Given the description of an element on the screen output the (x, y) to click on. 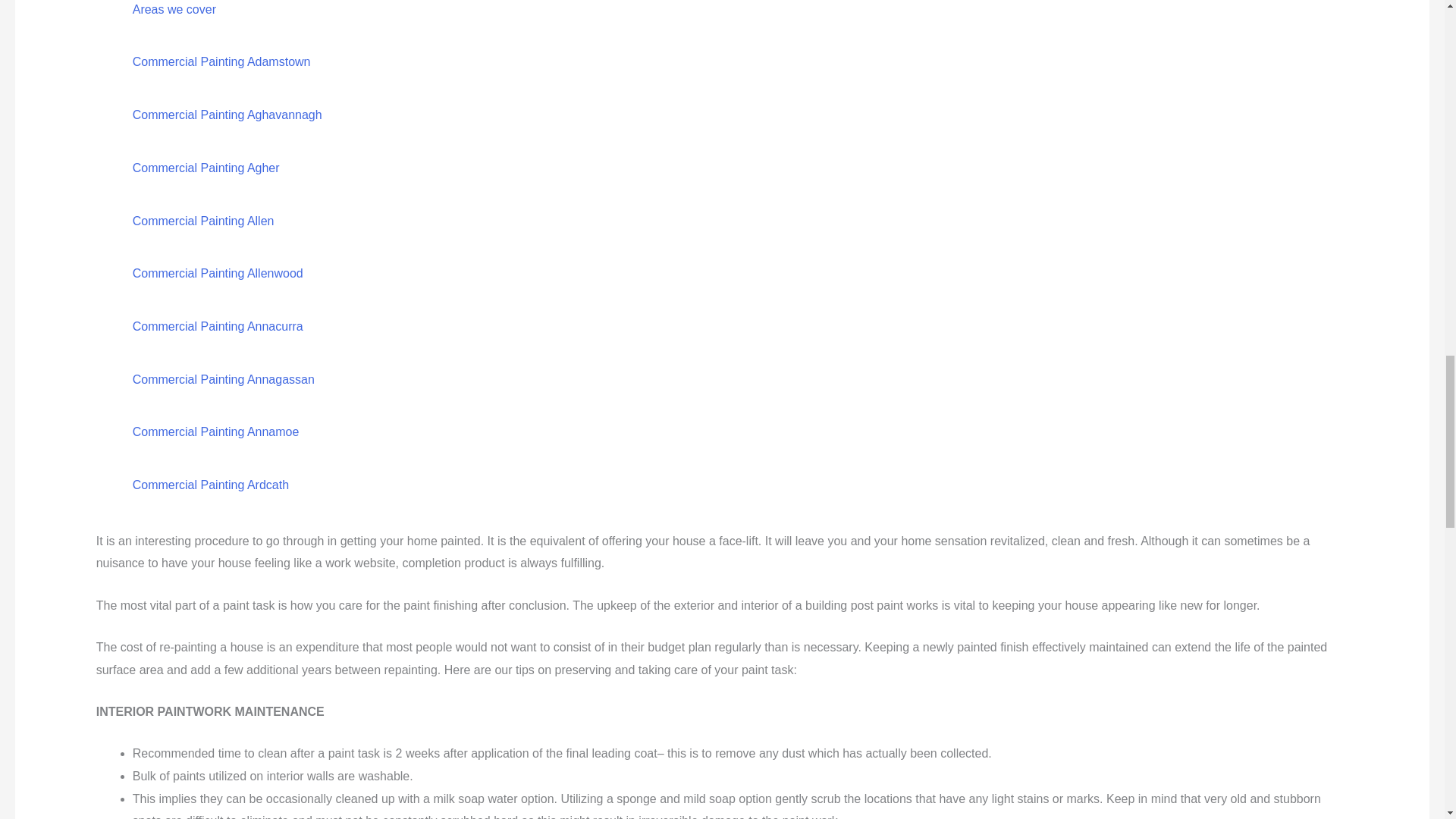
Commercial Painting Agher (205, 167)
Commercial Painting Adamstown (221, 61)
Commercial Painting Annacurra (217, 326)
Commercial Painting Agher (205, 167)
Commercial Painting Annamoe (215, 431)
Areas we cover (173, 9)
Commercial Painting Annagassan (223, 379)
Commercial Painting Adamstown (221, 61)
Commercial Painting Ardcath (210, 484)
Commercial Painting Allenwood (217, 273)
